Given the description of an element on the screen output the (x, y) to click on. 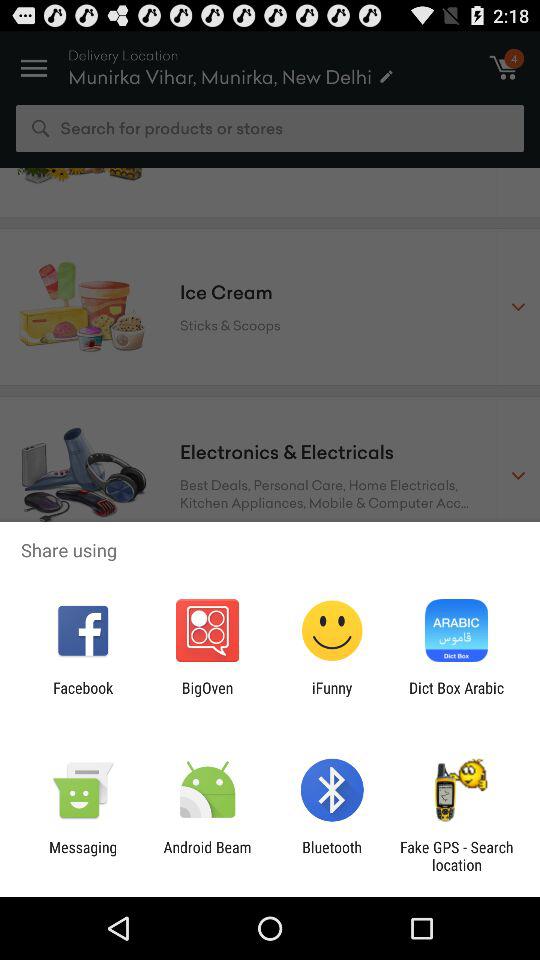
click icon below share using icon (332, 696)
